Given the description of an element on the screen output the (x, y) to click on. 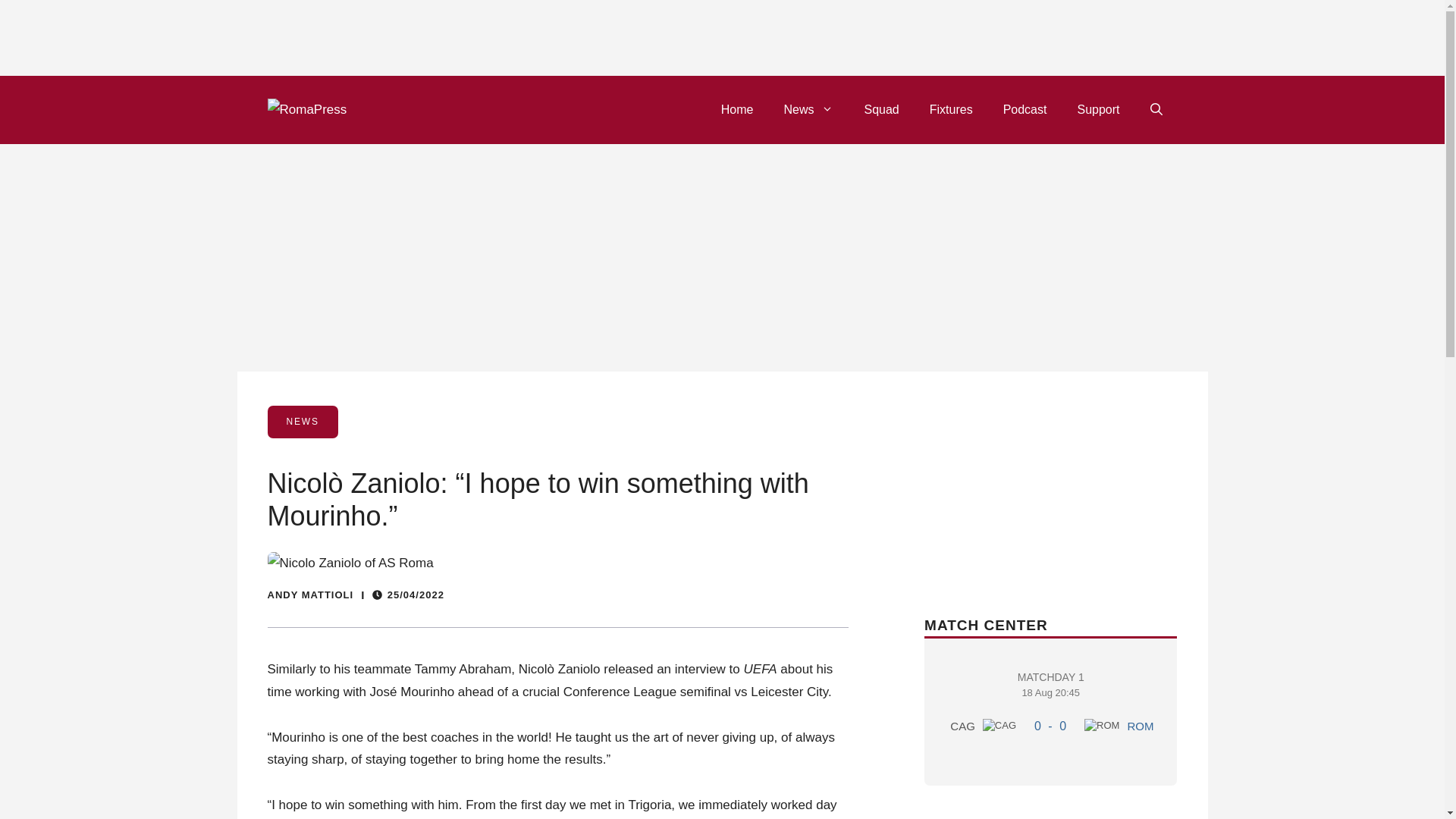
Podcast (1025, 109)
Support (1050, 707)
ROM (1097, 109)
ROM (1139, 725)
Home (1101, 725)
CAG (737, 109)
Squad (999, 725)
0 - 0 (881, 109)
News (1049, 725)
